Given the description of an element on the screen output the (x, y) to click on. 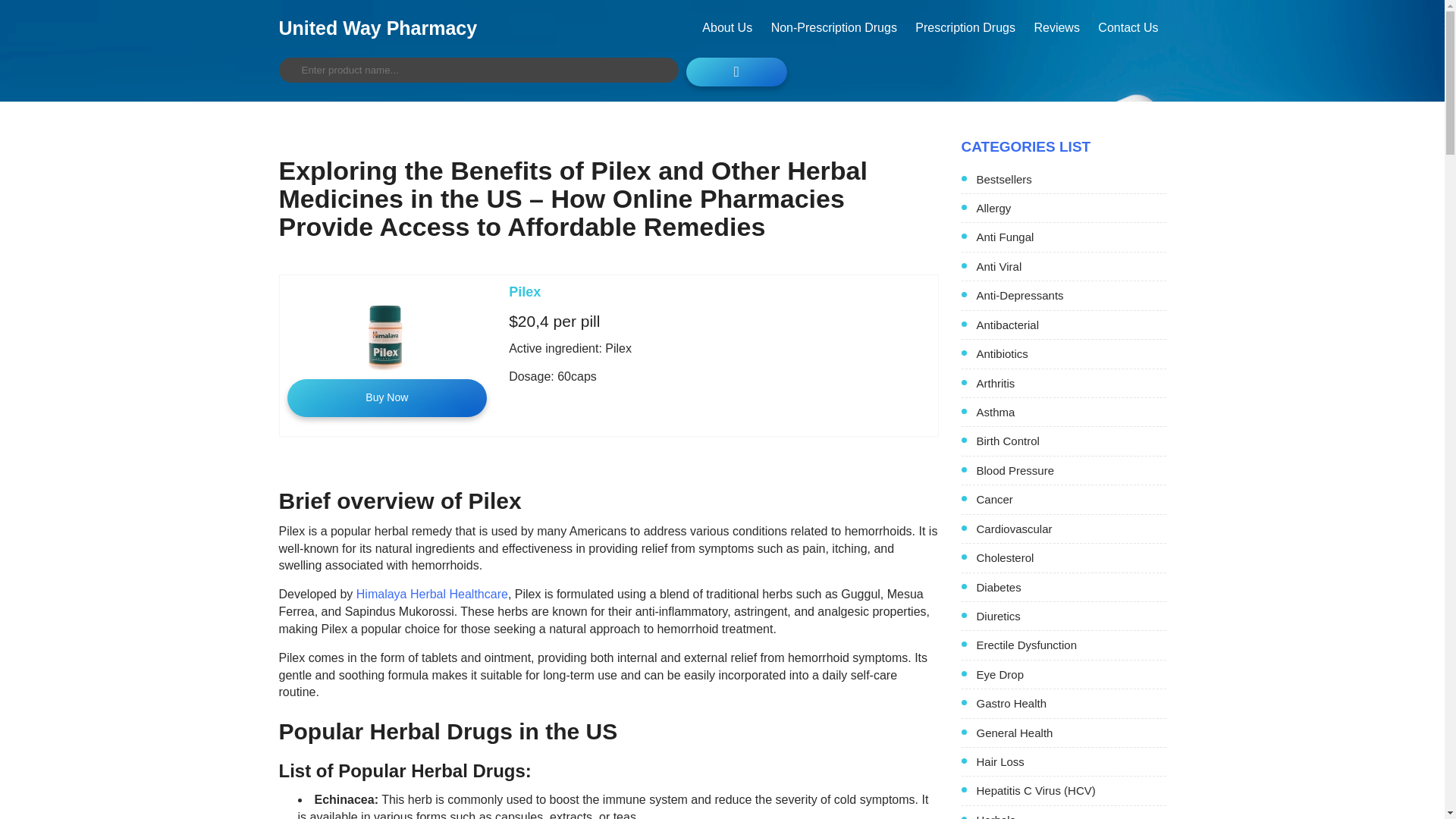
Pilex (524, 291)
Non-Prescription Drugs (833, 27)
Contact Us (1128, 27)
Bestsellers (1071, 179)
Anti-Depressants (1071, 295)
Reviews (1056, 27)
Antibiotics (1071, 353)
Anti Viral (1071, 266)
United Way Pharmacy (378, 27)
Pilex (524, 291)
